Given the description of an element on the screen output the (x, y) to click on. 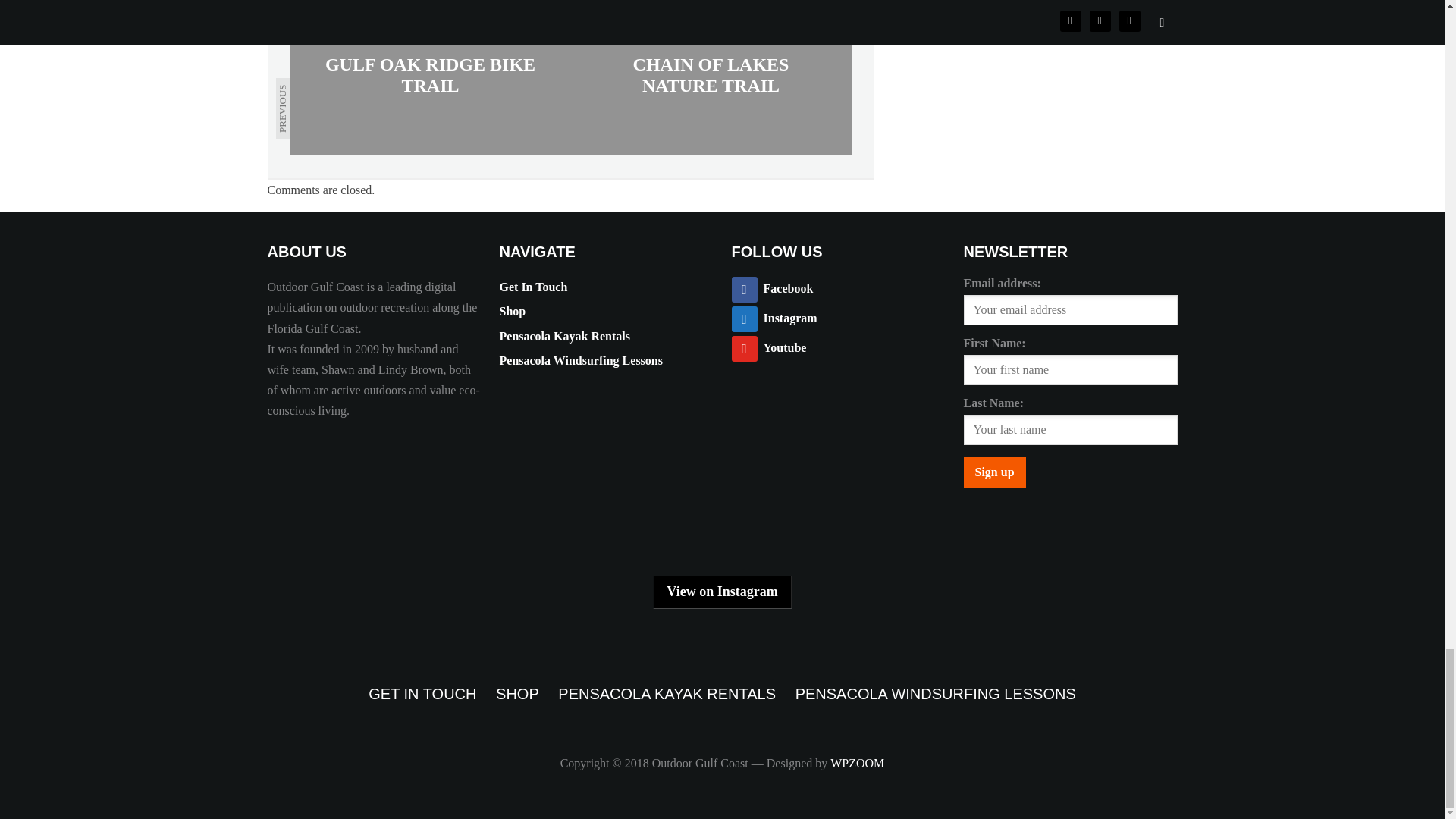
Sign up (993, 472)
Gulf Oak Ridge Bike Trail (429, 77)
